Given the description of an element on the screen output the (x, y) to click on. 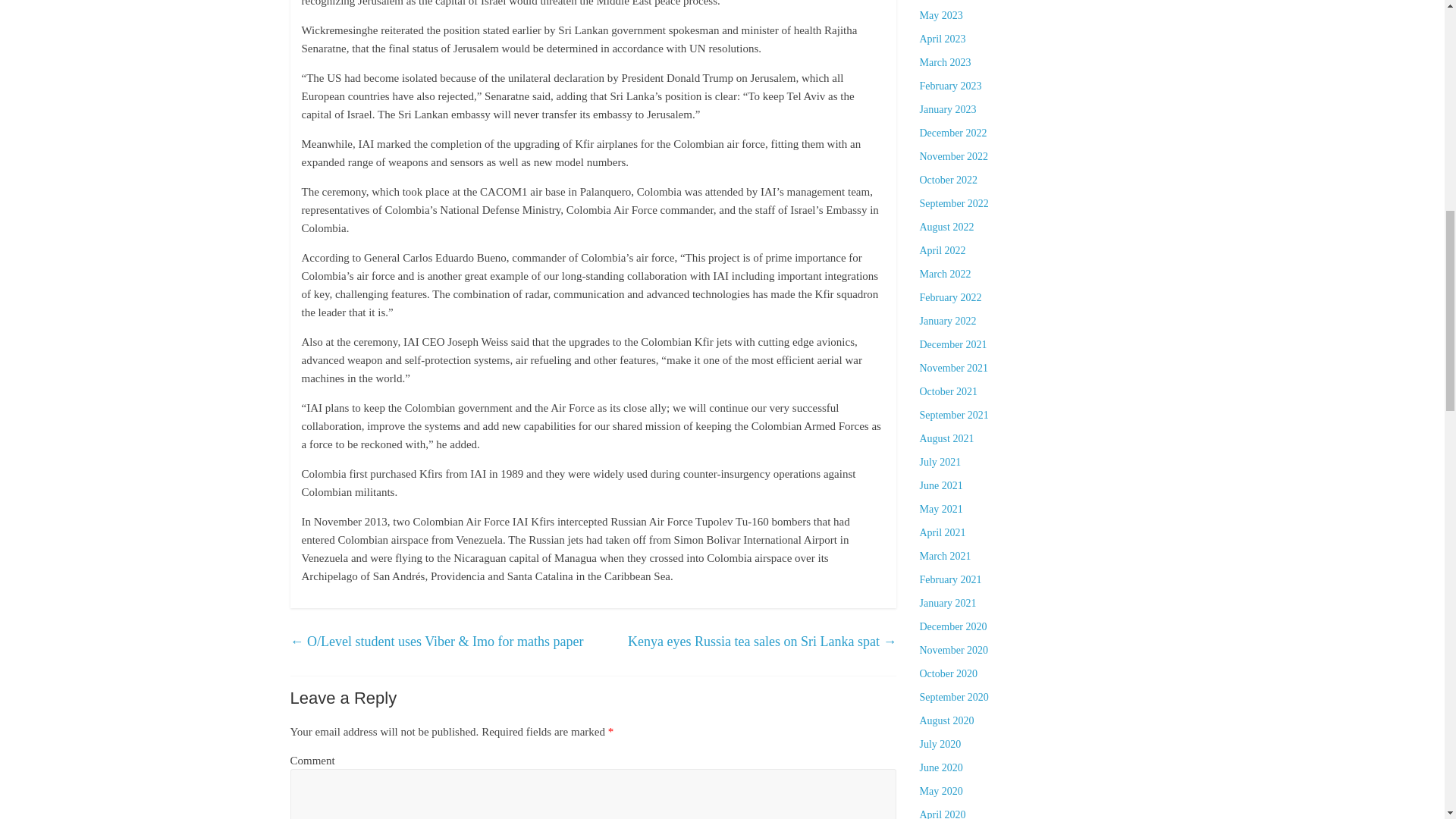
March 2023 (944, 61)
January 2023 (946, 109)
February 2023 (949, 85)
April 2023 (941, 39)
May 2023 (940, 15)
